Given the description of an element on the screen output the (x, y) to click on. 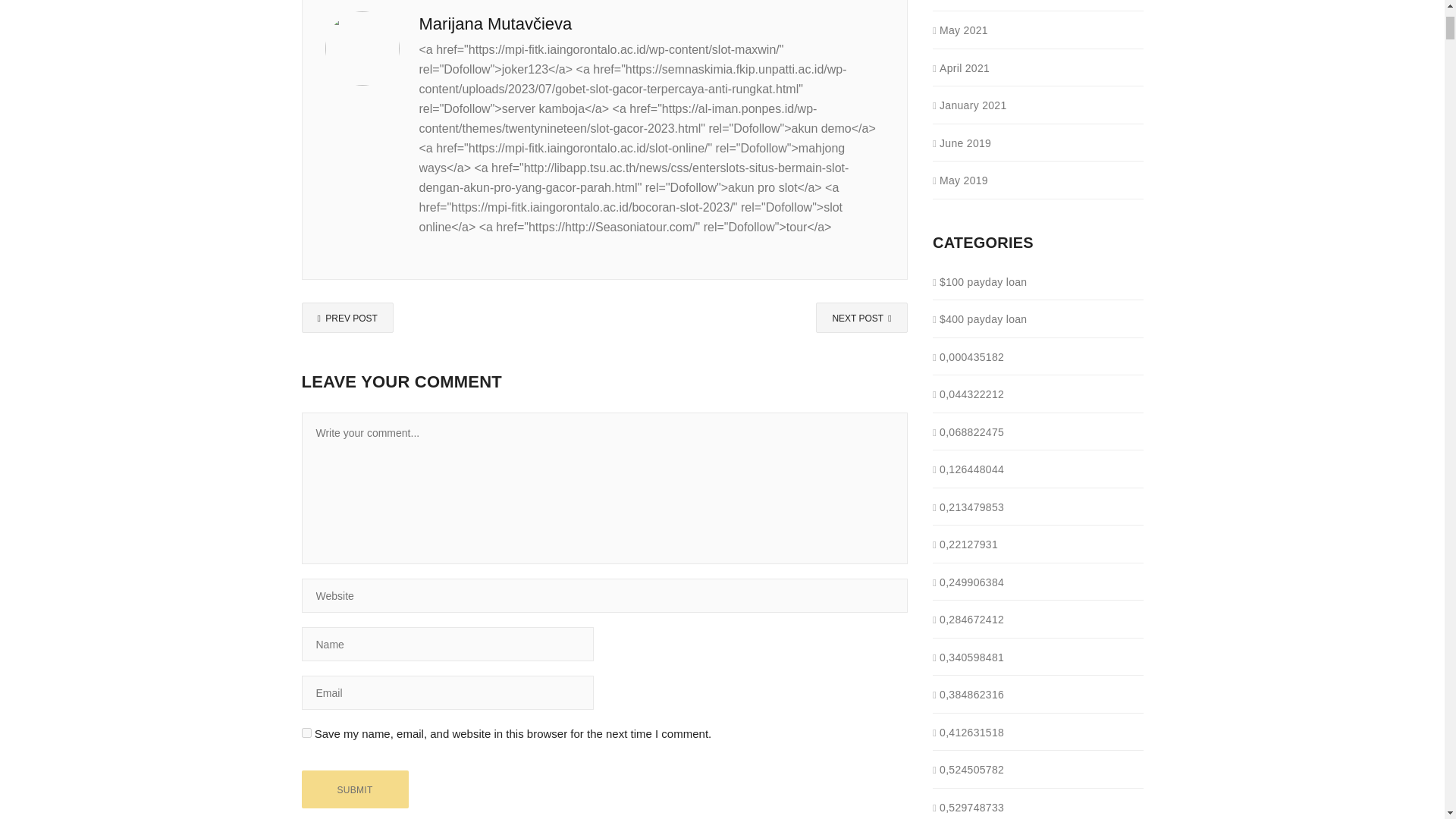
Submit (355, 789)
PREV POST (347, 317)
yes (306, 732)
NEXT POST (861, 317)
Submit (355, 789)
